Given the description of an element on the screen output the (x, y) to click on. 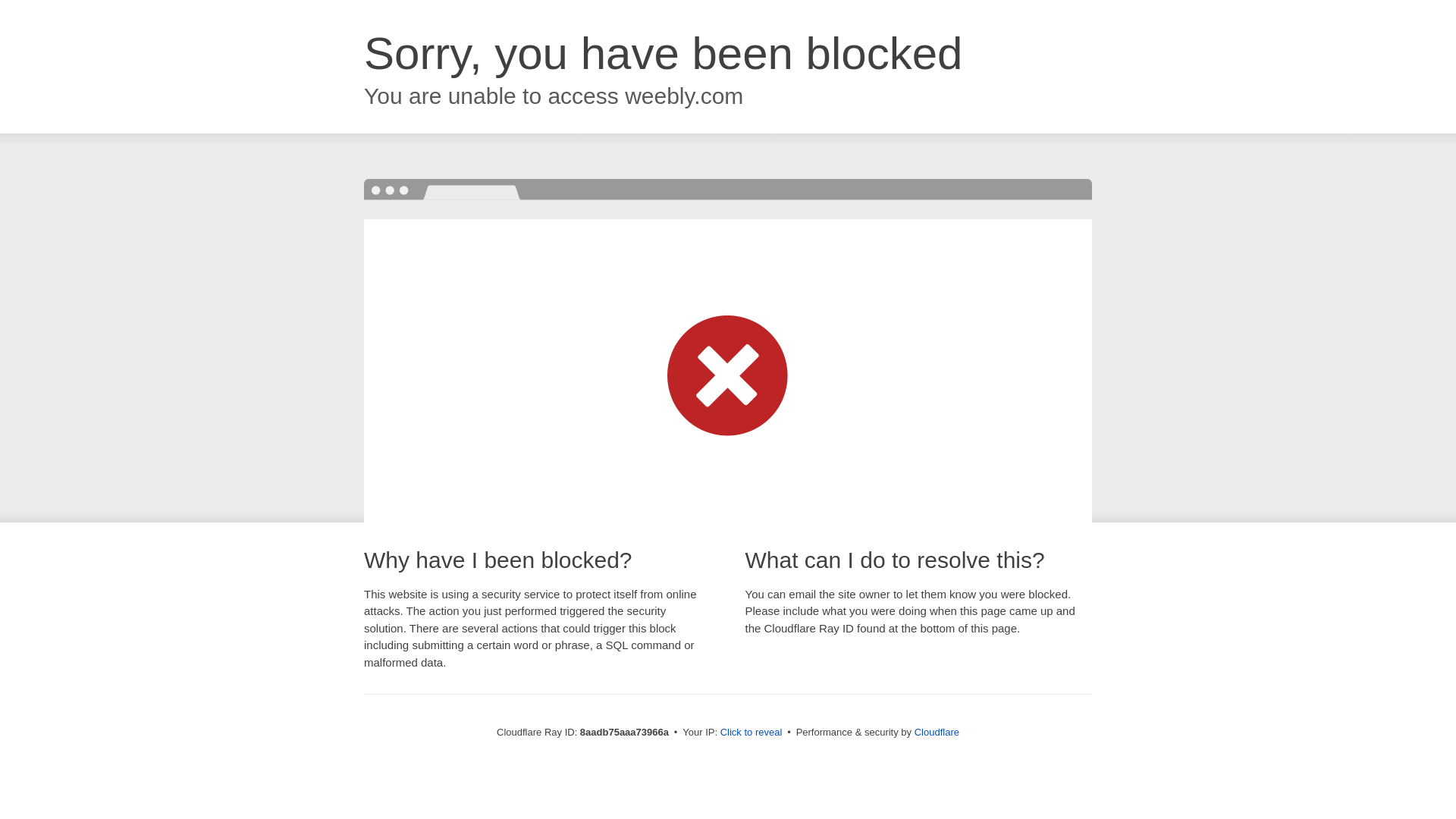
Click to reveal (751, 732)
Cloudflare (936, 731)
